Given the description of an element on the screen output the (x, y) to click on. 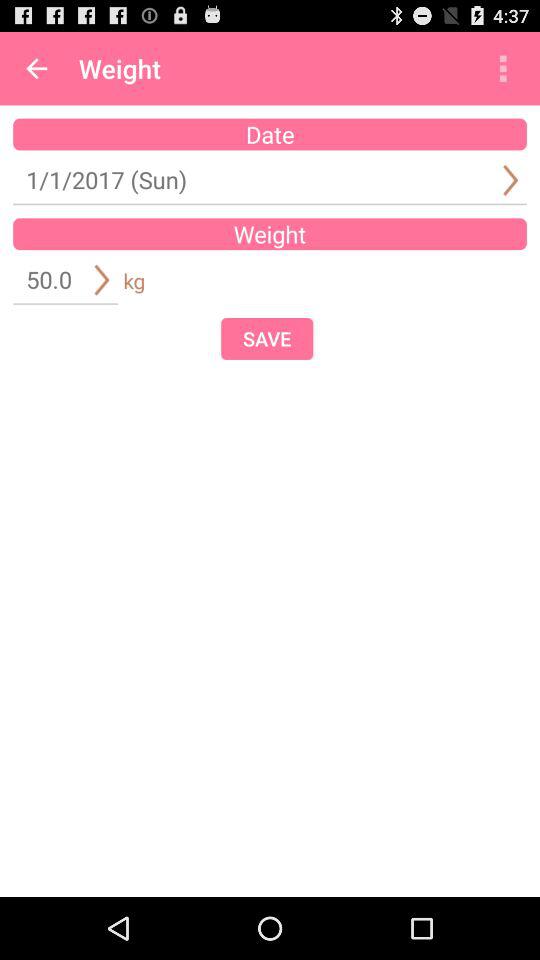
tap item at the center (267, 338)
